Given the description of an element on the screen output the (x, y) to click on. 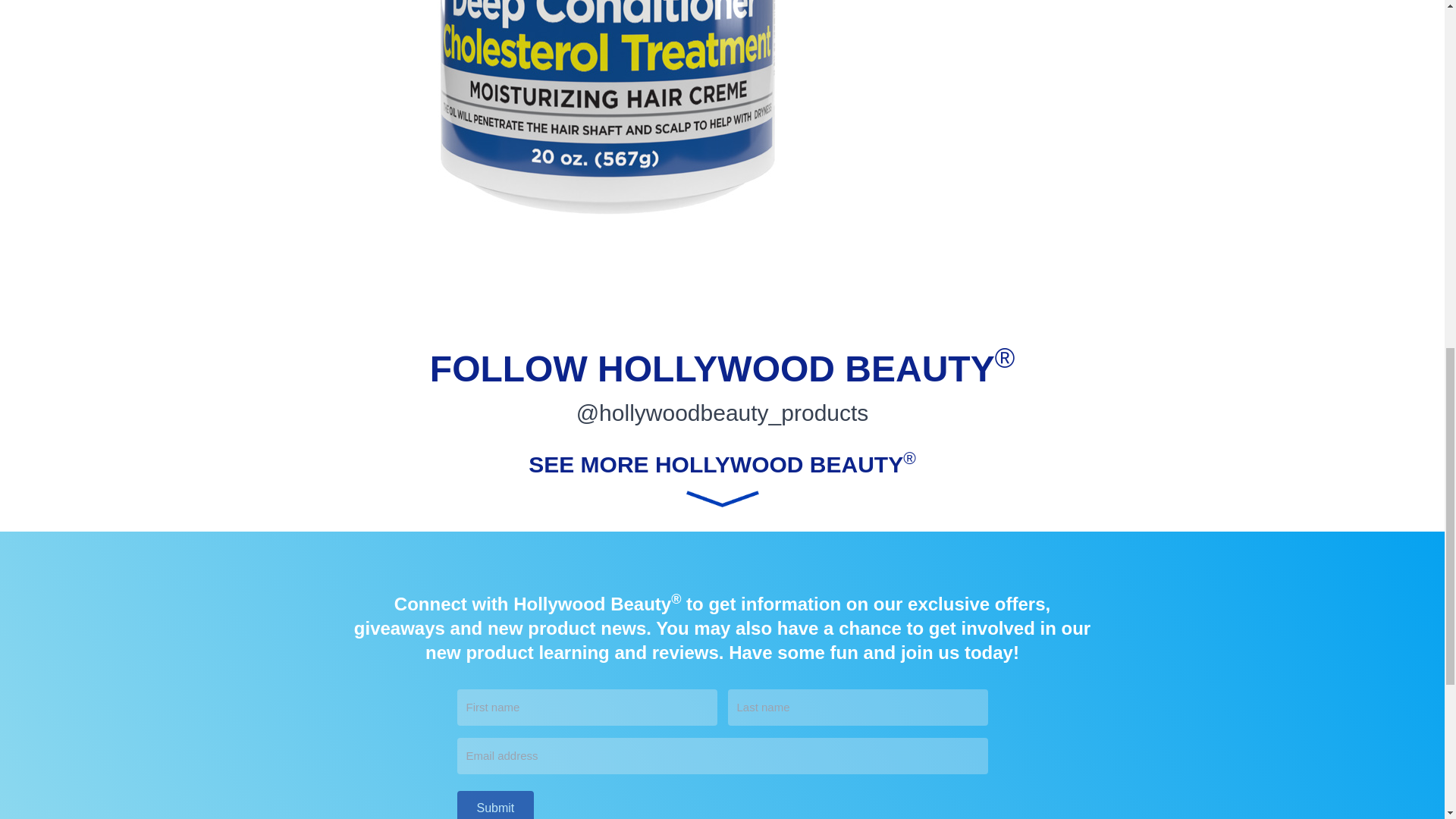
Submit (495, 805)
Submit (495, 805)
